Given the description of an element on the screen output the (x, y) to click on. 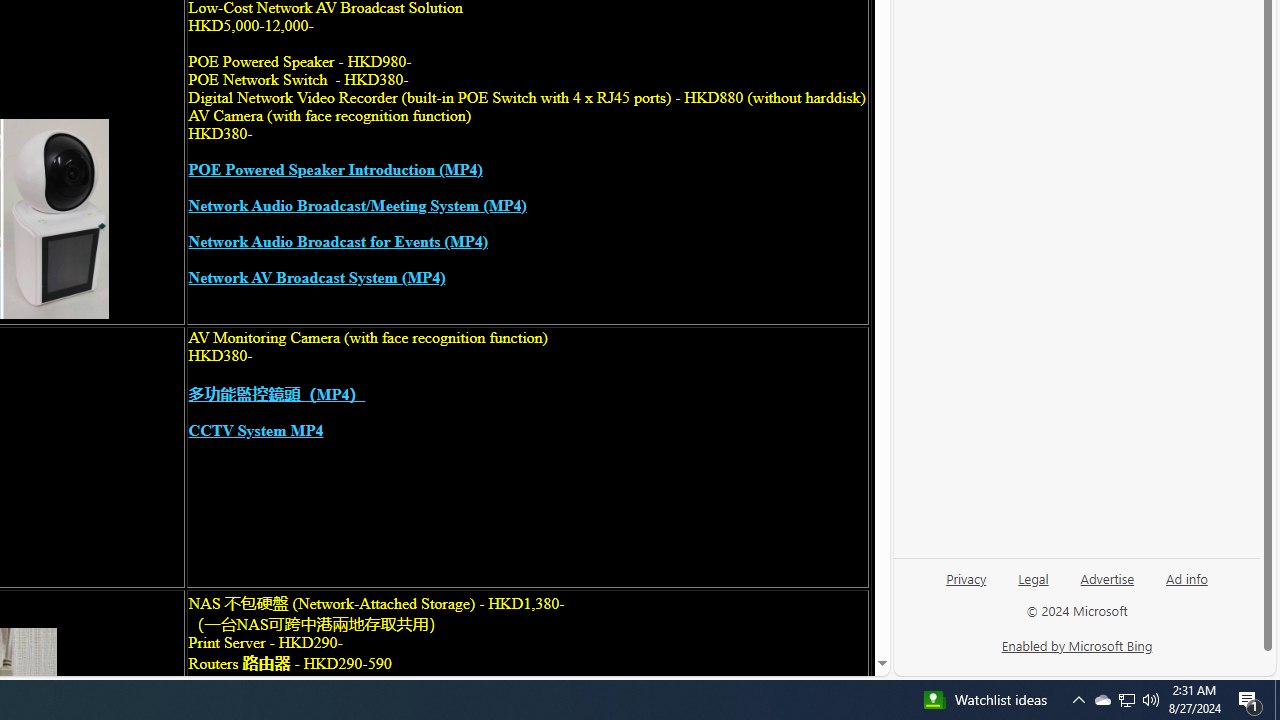
POE Powered Speaker Introduction (MP4) (335, 170)
CCTV System MP4 (255, 430)
Network Audio Broadcast for Events (MP4)  (337, 242)
Network Audio Broadcast/Meeting System (MP4) (357, 206)
Network AV Broadcast System (MP4) (316, 278)
